Given the description of an element on the screen output the (x, y) to click on. 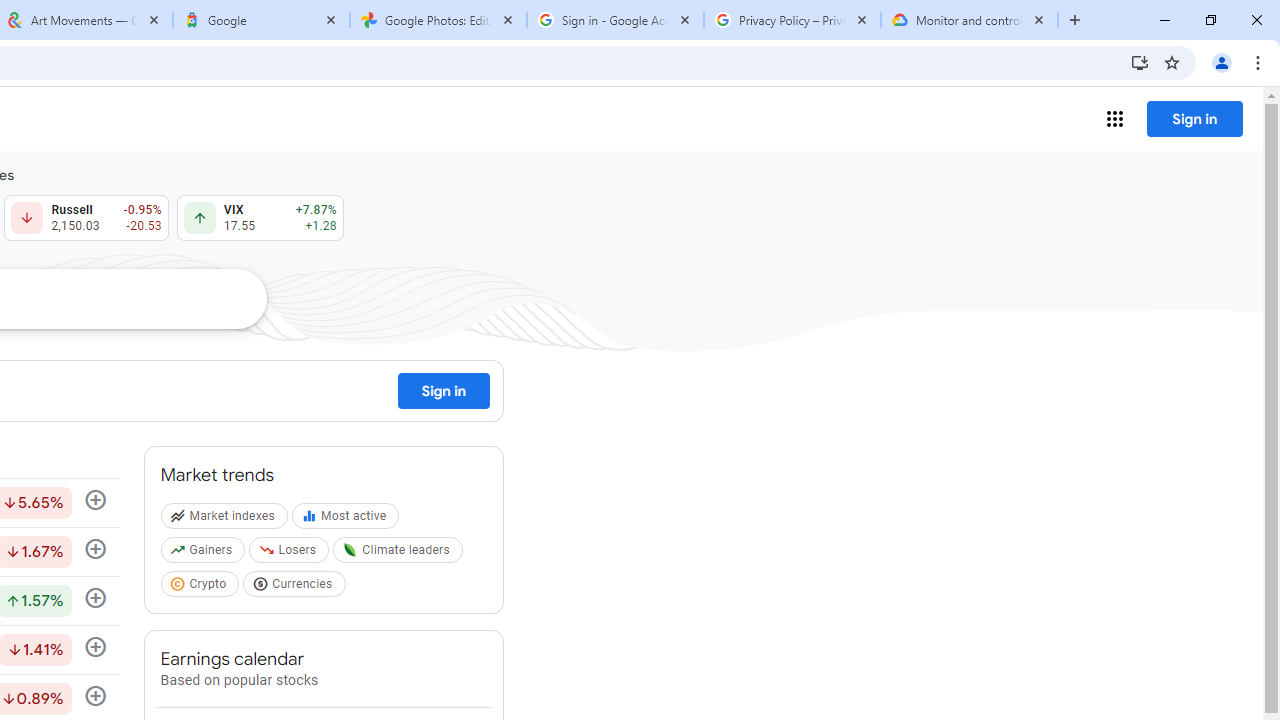
Russell 2,150.03 Down by 0.95% -20.53 (85, 218)
VIX 17.55 Up by 7.87% +1.28 (260, 218)
Market indexes (226, 520)
Crypto (202, 587)
Currencies (296, 587)
Losers (291, 553)
